Given the description of an element on the screen output the (x, y) to click on. 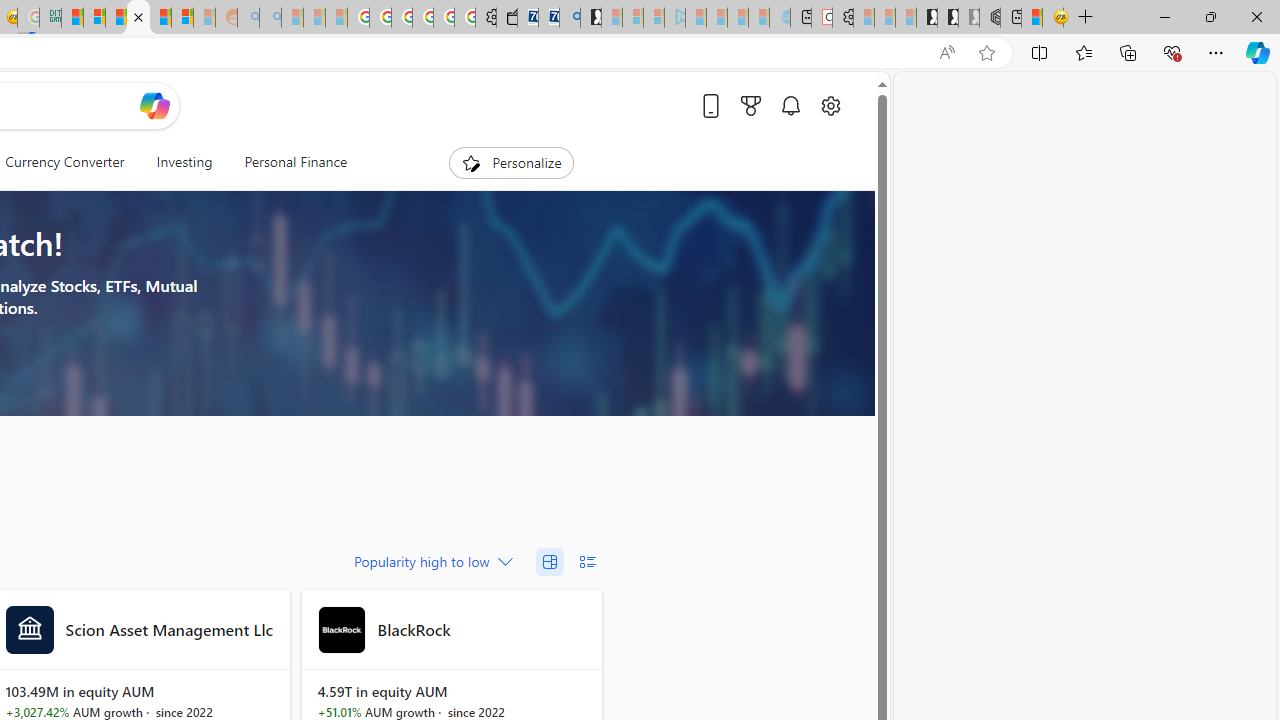
Card View (549, 561)
Personal Finance (287, 162)
